Given the description of an element on the screen output the (x, y) to click on. 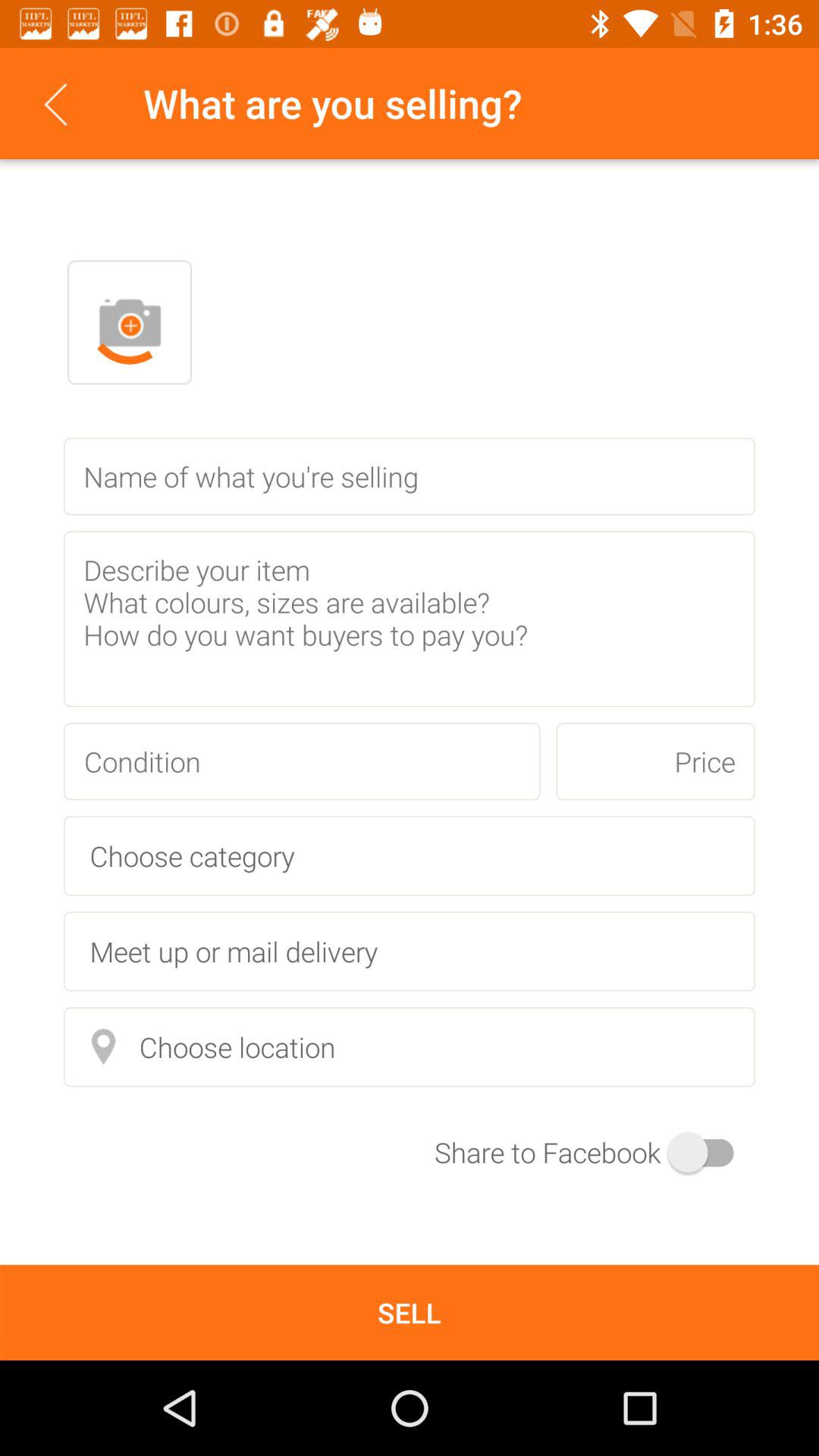
open the icon next to    condition item (655, 761)
